Given the description of an element on the screen output the (x, y) to click on. 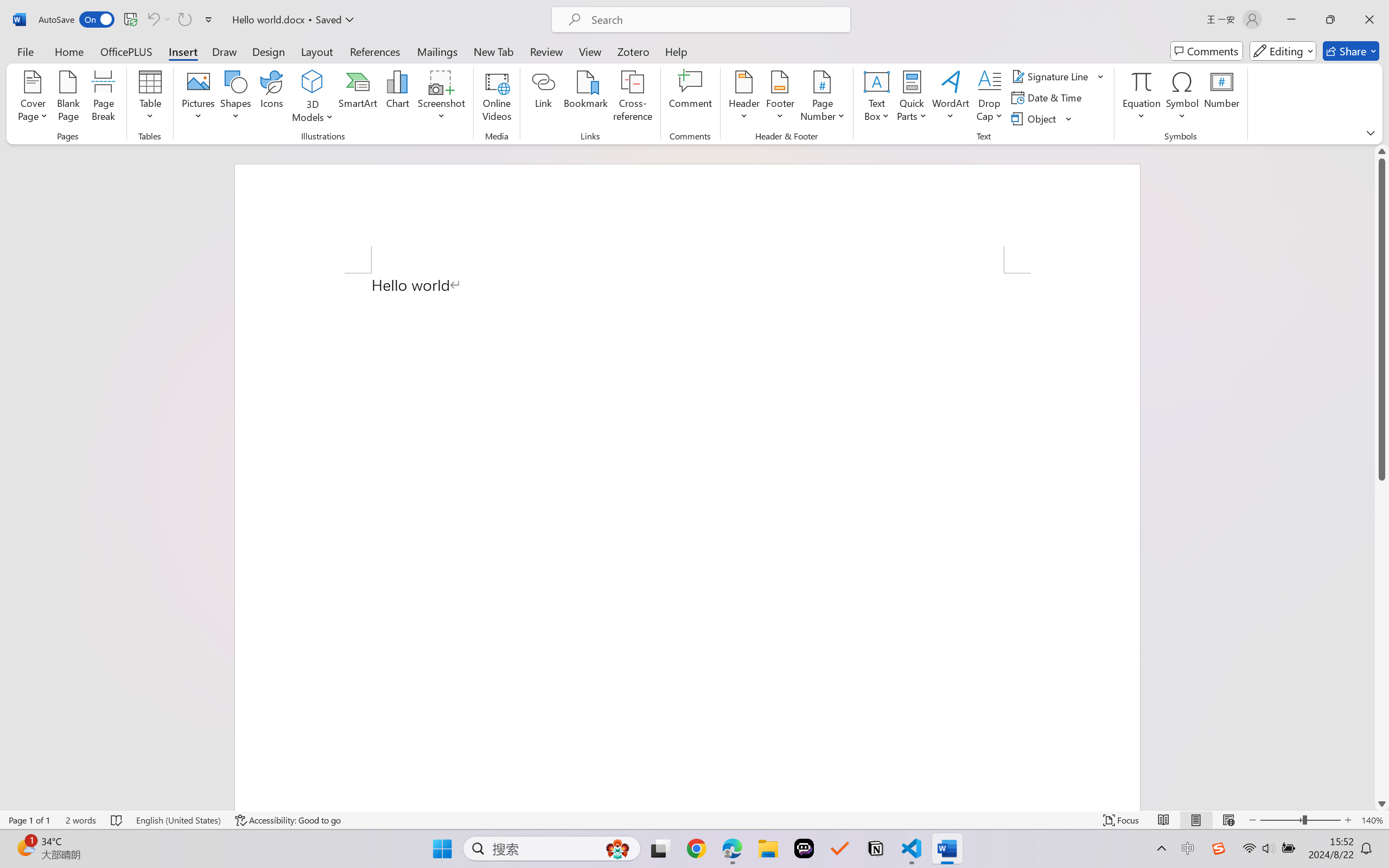
Reviewing Pane (635, 77)
Delete (413, 51)
Thesaurus... (45, 62)
Mark All as Read (319, 62)
Convert with Options... (259, 74)
Hide Ink (709, 51)
Show Comments (499, 51)
Accept (570, 62)
Show Changes (347, 62)
Title TextBox (664, 442)
